Given the description of an element on the screen output the (x, y) to click on. 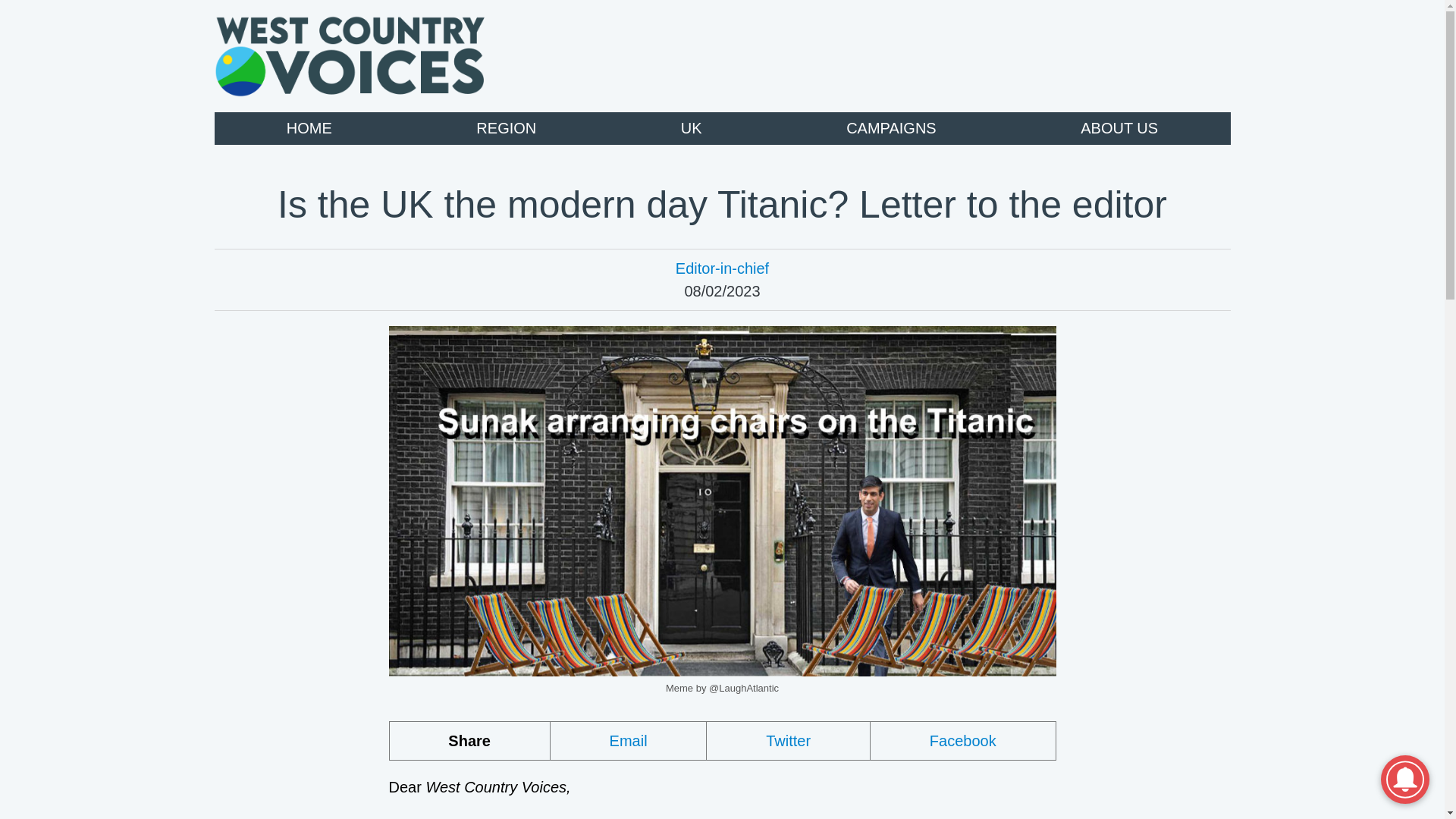
REGION (505, 128)
Email (628, 740)
Twitter (788, 740)
HOME (308, 128)
CAMPAIGNS (890, 128)
